Given the description of an element on the screen output the (x, y) to click on. 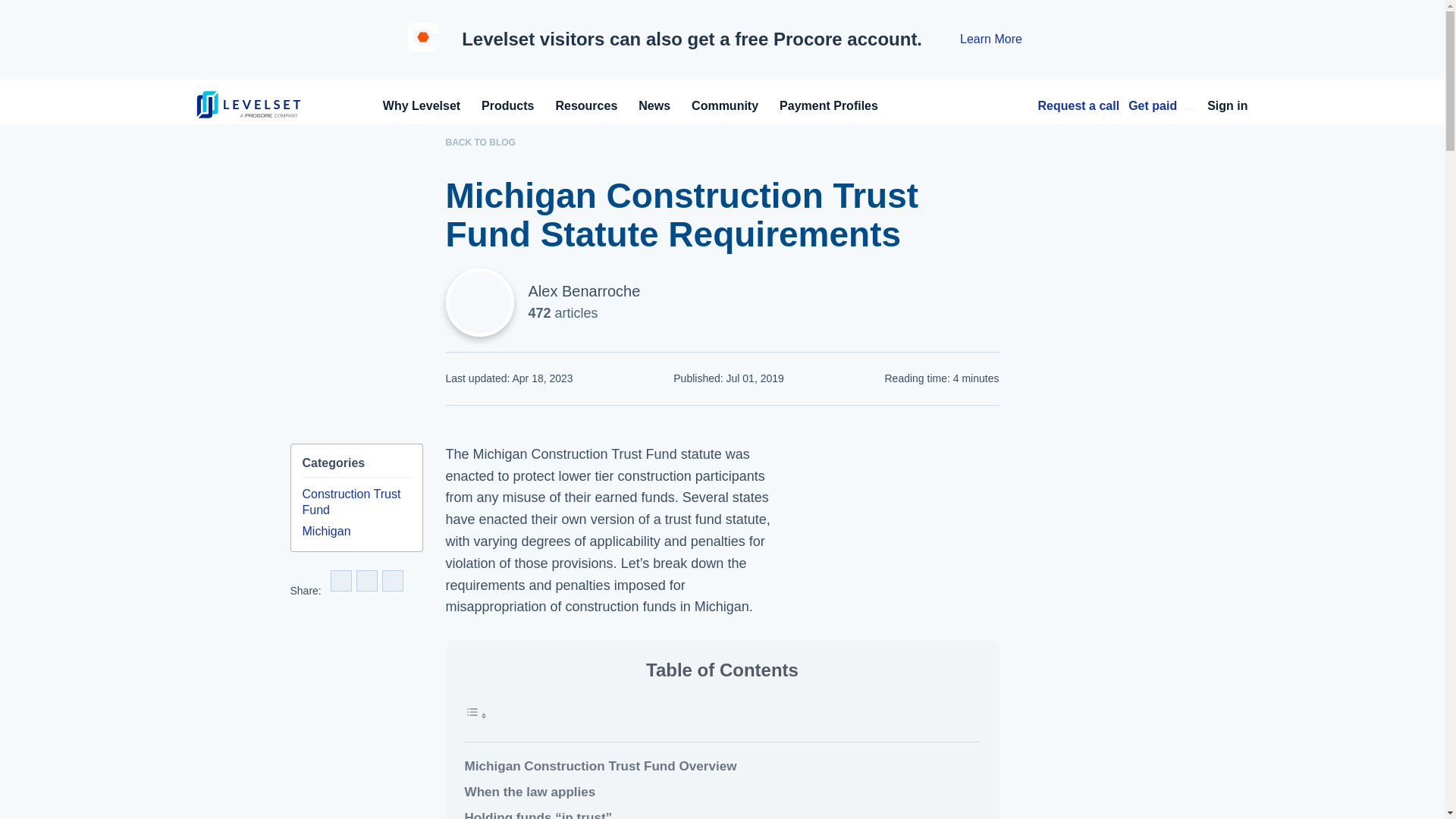
Michigan Construction Trust Fund Overview (721, 766)
Resources (585, 104)
When the law applies (721, 791)
Products (507, 104)
Learn More (990, 38)
Why Levelset (421, 104)
